Given the description of an element on the screen output the (x, y) to click on. 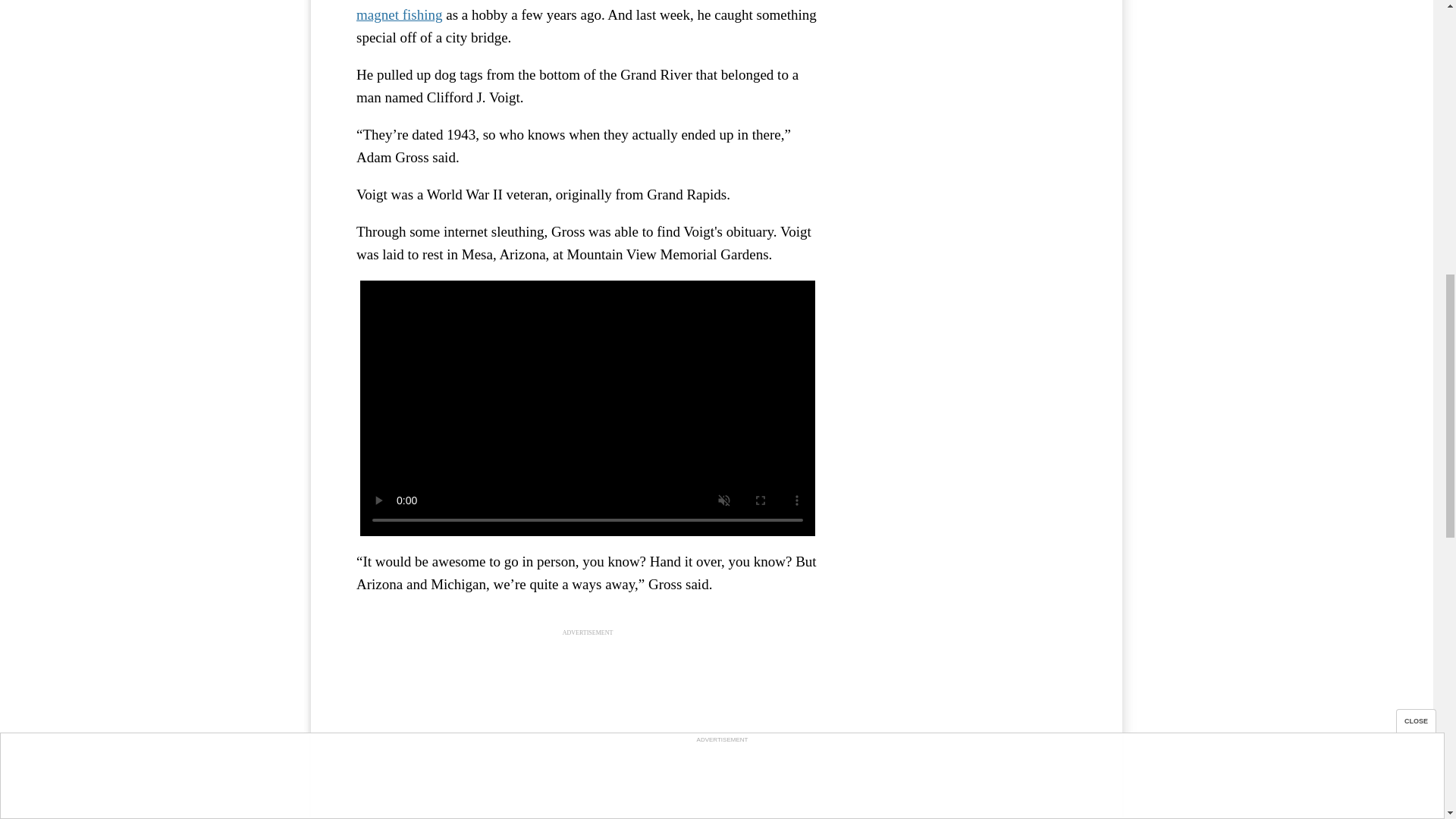
3rd party ad content (587, 733)
